Given the description of an element on the screen output the (x, y) to click on. 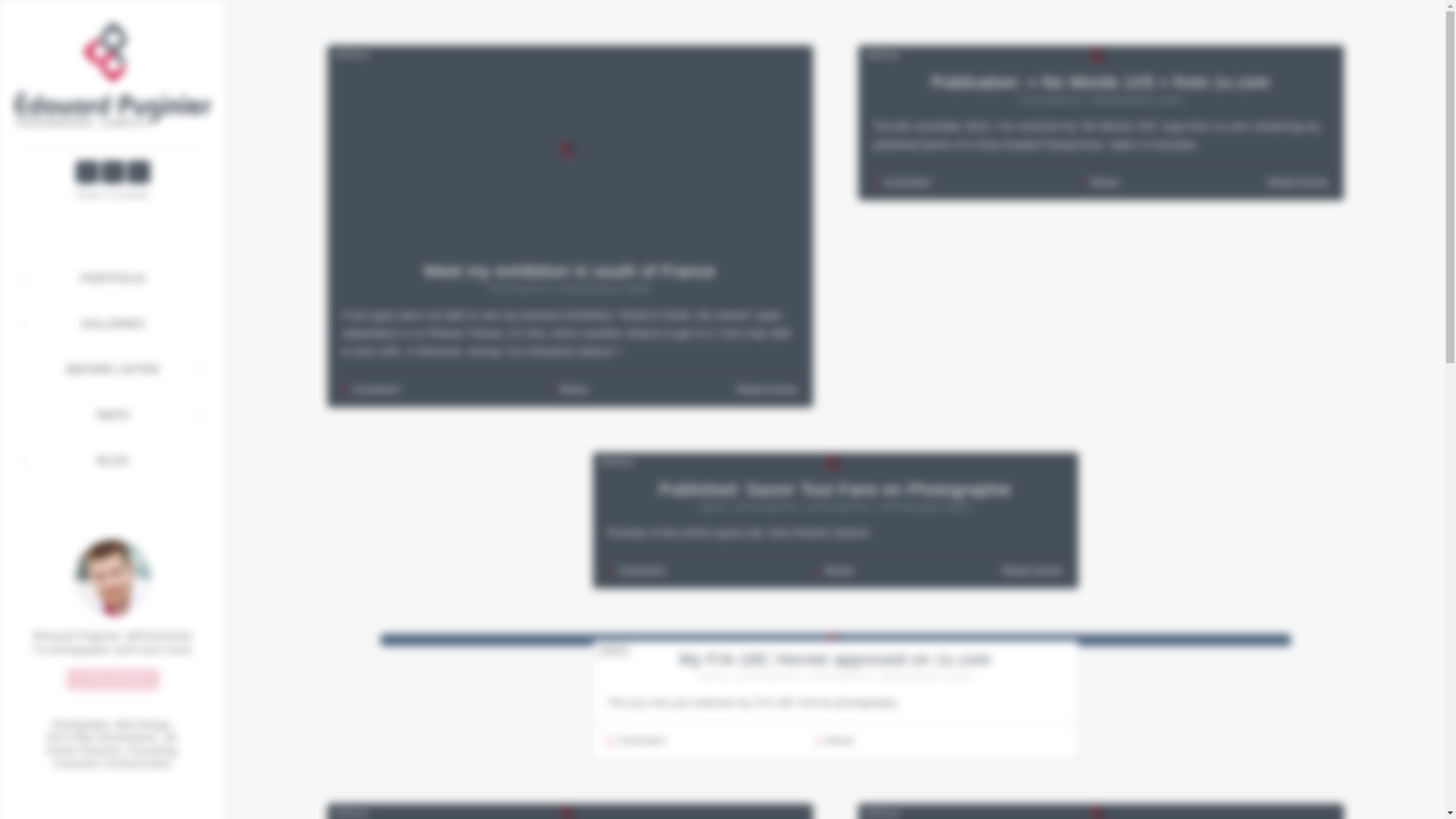
Read Article (569, 148)
Read Article (568, 271)
BLOG (113, 459)
Read Article (1101, 54)
MAPS (113, 413)
GALLERIES (112, 323)
Read Article (835, 461)
Read Article (569, 811)
Read Article (1100, 82)
Read Article (835, 659)
Read Article (834, 489)
PORTFOLIO (112, 277)
